Given the description of an element on the screen output the (x, y) to click on. 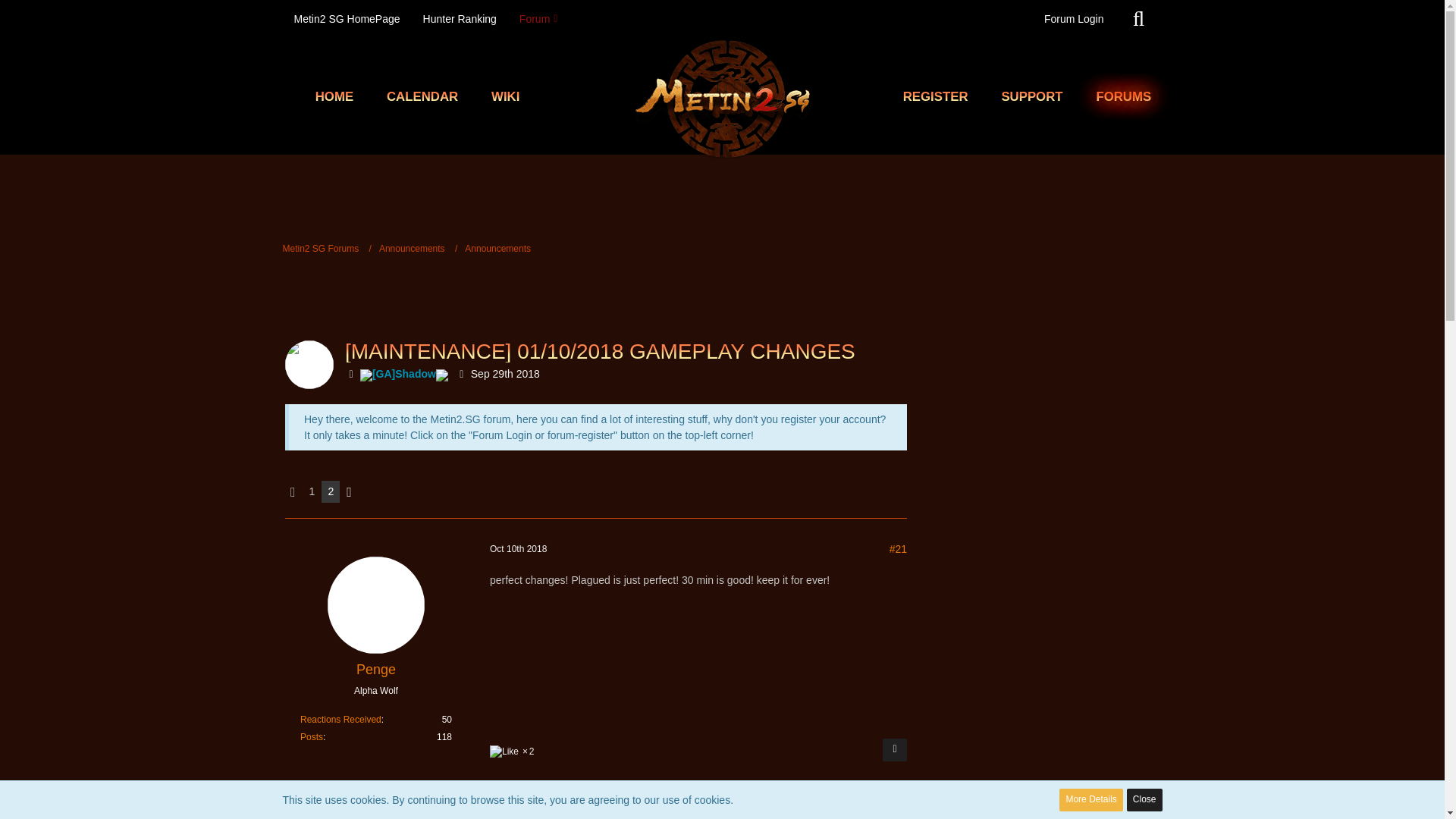
Hunter Ranking (460, 18)
Announcements (411, 248)
Sep 29th 2018 (505, 373)
2 (513, 750)
Reactions Received (340, 719)
Metin2 SG HomePage (346, 18)
Oct 10th 2018 (518, 548)
WIKI (505, 97)
Posts (311, 737)
SUPPORT (1031, 97)
